Given the description of an element on the screen output the (x, y) to click on. 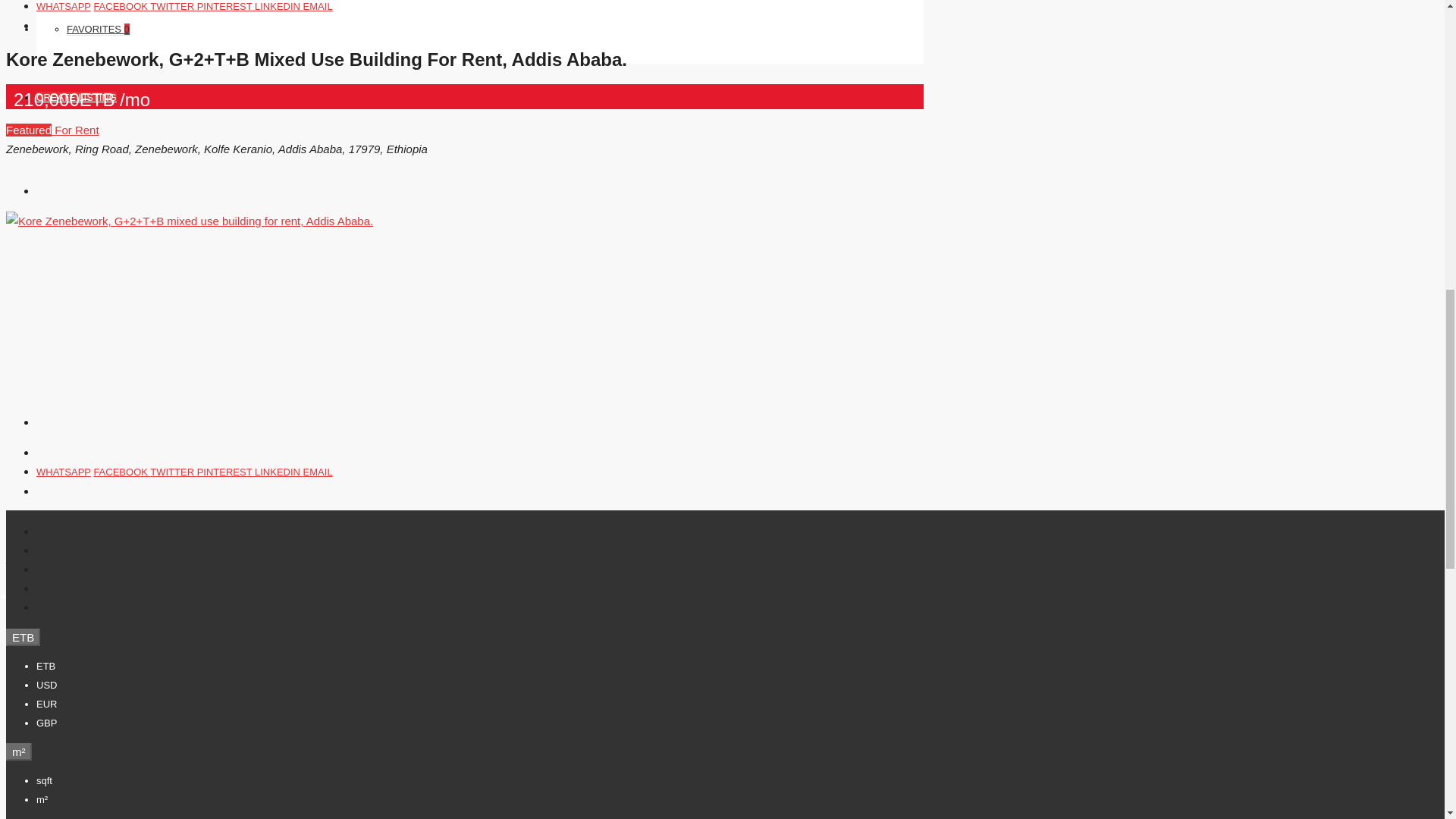
FAVORITES 0 (97, 29)
TWITTER (172, 6)
WHATSAPP (63, 6)
CREATE LISTING (76, 97)
FACEBOOK (121, 6)
